Given the description of an element on the screen output the (x, y) to click on. 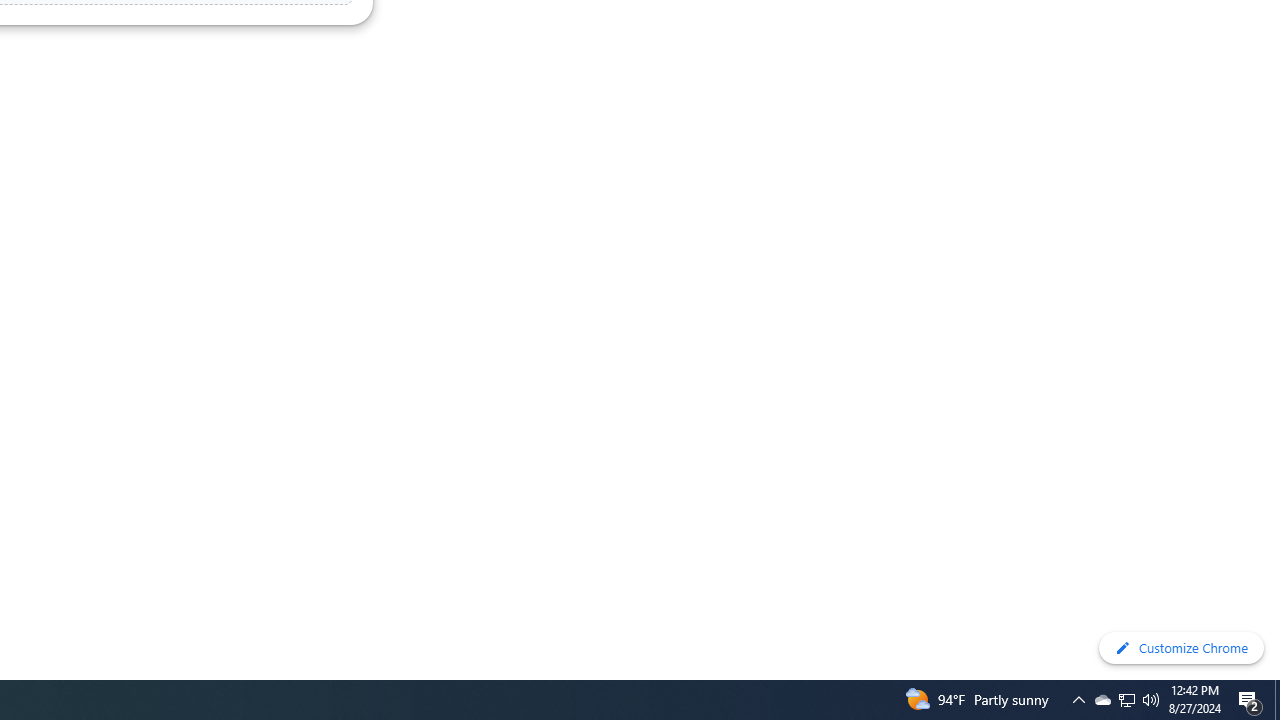
Customize Chrome (1181, 647)
